Given the description of an element on the screen output the (x, y) to click on. 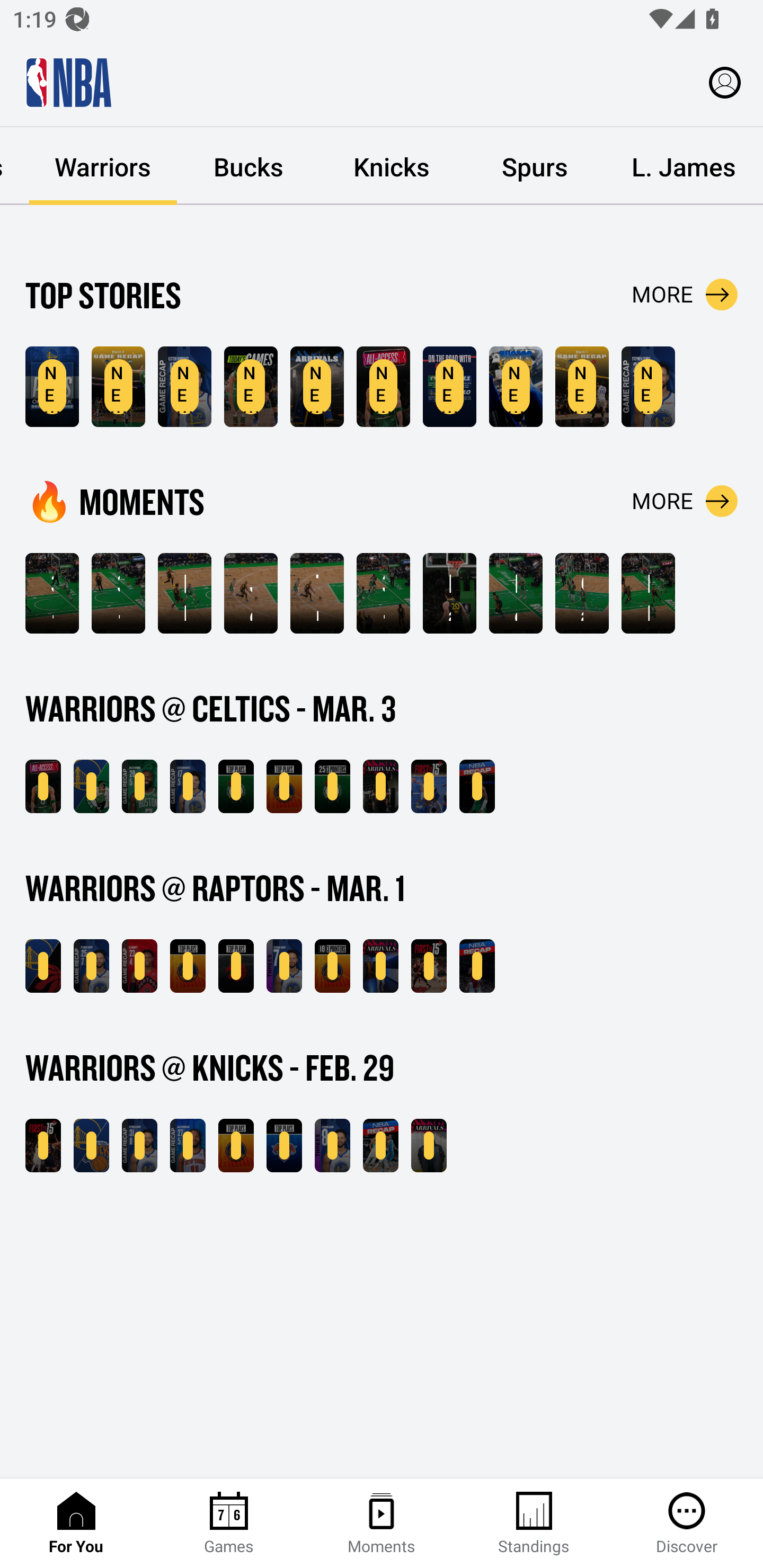
Profile (724, 81)
Bucks (248, 166)
Knicks (391, 166)
Spurs (534, 166)
L. James (683, 166)
MORE (684, 294)
NEW GSW's Top Plays of Week 19 (51, 386)
NEW Warriors Game Recap vs. Celtics (117, 386)
NEW Highlights From Lester Quinones' 17-Point Game (184, 386)
NEW Warriors at Celtics (250, 386)
NEW Dubs' Fits in Boston 💧 (317, 386)
Warriors And Celtics Clash At TD Garden 🍀 NEW (383, 386)
On The Road With Hotels.com NEW (449, 386)
Top Pics at Toronto 📸 NEW (515, 386)
Highlights From Stephen Curry's 25-Point Game NEW (648, 386)
MORE (684, 500)
3-pointer by Lester Quinones (51, 593)
3-pointer by Lester Quinones (117, 593)
Block by Jerome Robinson (184, 593)
Jerome Robinson ascends for the slam! (250, 593)
Trayce Jackson-Davis denies the attempt (317, 593)
3-pointer by Gui Santos (383, 593)
Dario Saric with the And-1 (449, 593)
Moses Moody rises up for the dunk (515, 593)
Gary Payton II with the And-1 (581, 593)
Block by Trayce Jackson-Davis (648, 593)
Warriors And Celtics Clash At TD Garden 🍀 NEW (43, 785)
BOS 140, GSW 88 - Mar 3 NEW (91, 785)
Highlights From Jaylen Brown's 29-Point Game NEW (139, 785)
Highlights From Lester Quinones' 17-Point Game NEW (187, 785)
BOS' Top Plays from GSW vs. BOS NEW (236, 785)
GSW's Top Plays from GSW vs. BOS NEW (284, 785)
All 3-pointers from BOS' 25 3-pointer Night NEW (332, 785)
Steppin' Into Sunday 🔥 NEW (380, 785)
First To 15, Mar. 3rd NEW (428, 785)
Sunday's Recap NEW (477, 785)
NEW GSW 120, TOR 105 - Mar 1 (43, 965)
NEW Highlights From Stephen Curry's 25-Point Game (91, 965)
NEW Highlights From RJ Barrett's 23-Point Game (139, 965)
NEW GSW's Top Plays from GSW vs. TOR (187, 965)
NEW TOR's Top Plays from GSW vs. TOR (236, 965)
All 3-pointers from GSW's 18 3-pointer Night NEW (332, 965)
Which Fit From Friday Would You Rock? 🤔 NEW (380, 965)
First To 15: Mar. 1st NEW (428, 965)
Giannis' Big Night Highlights Friday's Action NEW (477, 965)
NEW First To 15: Feb. 29th (43, 1145)
NEW GSW 110, NYK 99 - Feb 29 (91, 1145)
NEW Highlights From Stephen Curry's 31-Point Game (139, 1145)
NEW Highlights From Jalen Brunson's 27-Point Game (187, 1145)
NEW GSW's Top Plays from GSW vs. NYK (236, 1145)
NYK's Top Plays from GSW vs. NYK NEW (284, 1145)
Thursday's Recap NEW (380, 1145)
Thursday Night's Arrivals 🔥 NEW (428, 1145)
Games (228, 1523)
Moments (381, 1523)
Standings (533, 1523)
Discover (686, 1523)
